Given the description of an element on the screen output the (x, y) to click on. 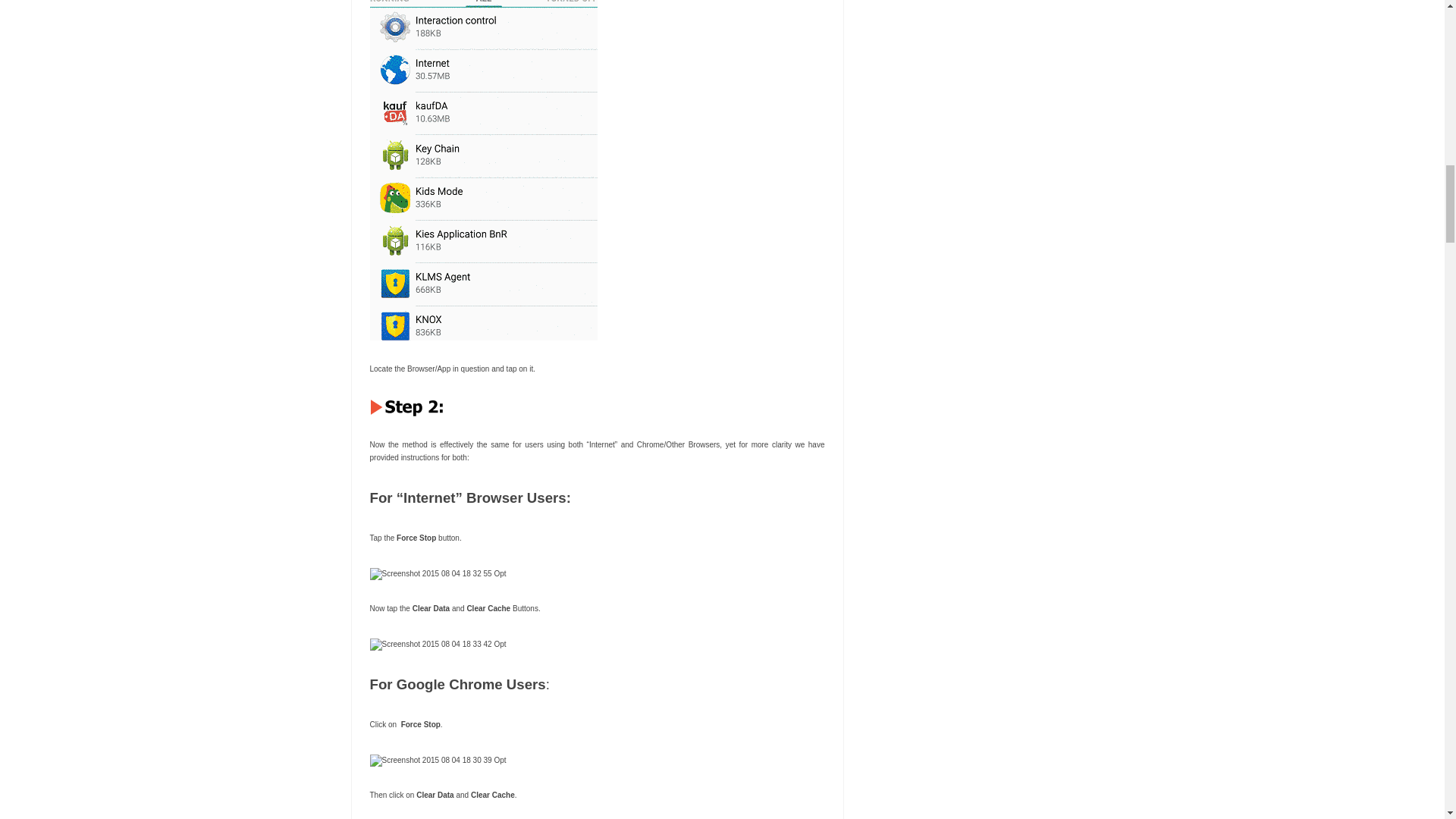
Google Chrome (437, 760)
Default Android Browser (437, 573)
Clear Cache and Data (437, 644)
